Given the description of an element on the screen output the (x, y) to click on. 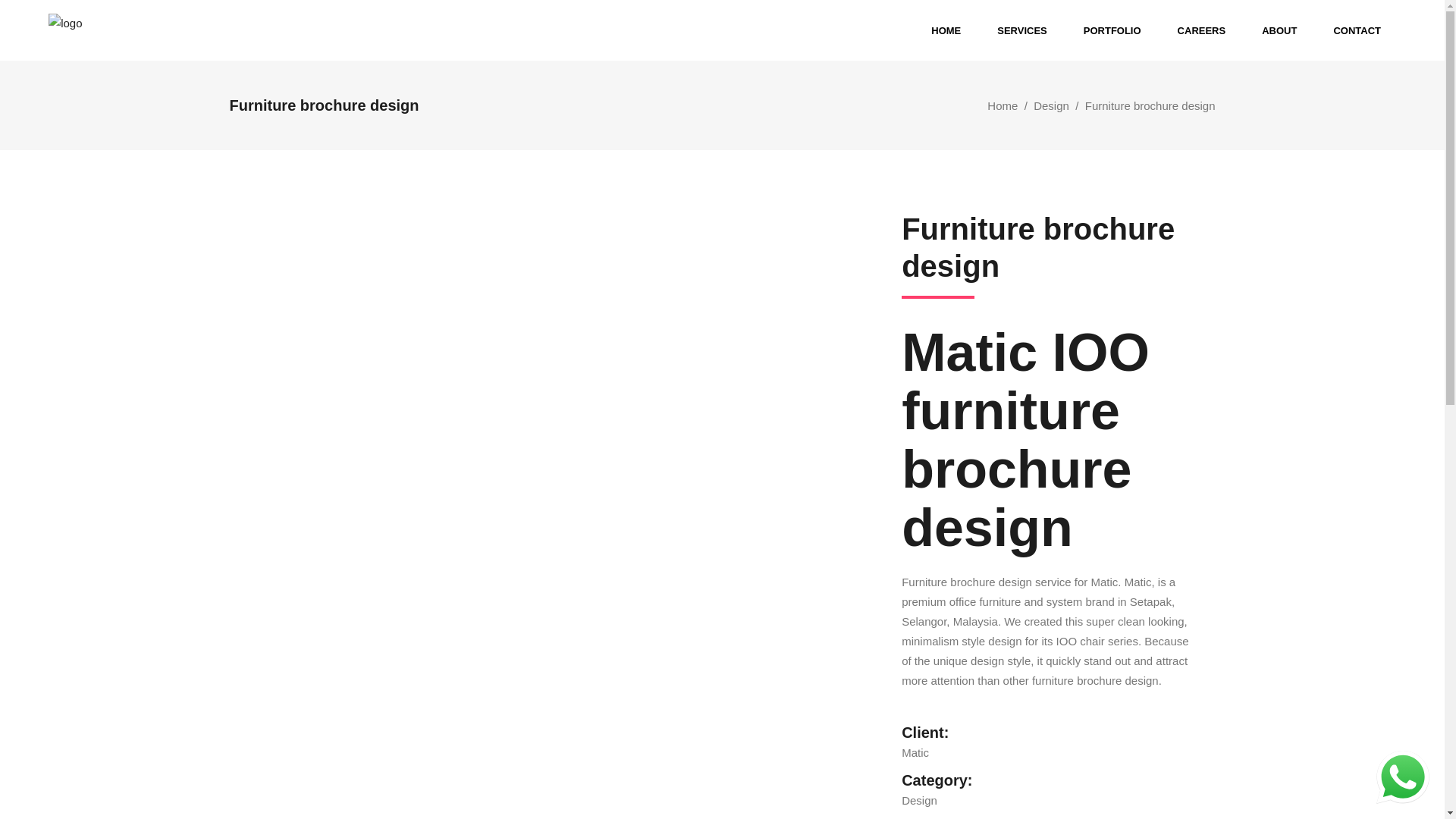
ABOUT (1278, 30)
CAREERS (1201, 30)
brochure-matic-ioo3 (553, 247)
SERVICES (1021, 30)
brochure-matic-ioo2 (553, 220)
HOME (945, 30)
PORTFOLIO (1111, 30)
CONTACT (1356, 30)
brochure-matic-ioo1 (553, 275)
